Given the description of an element on the screen output the (x, y) to click on. 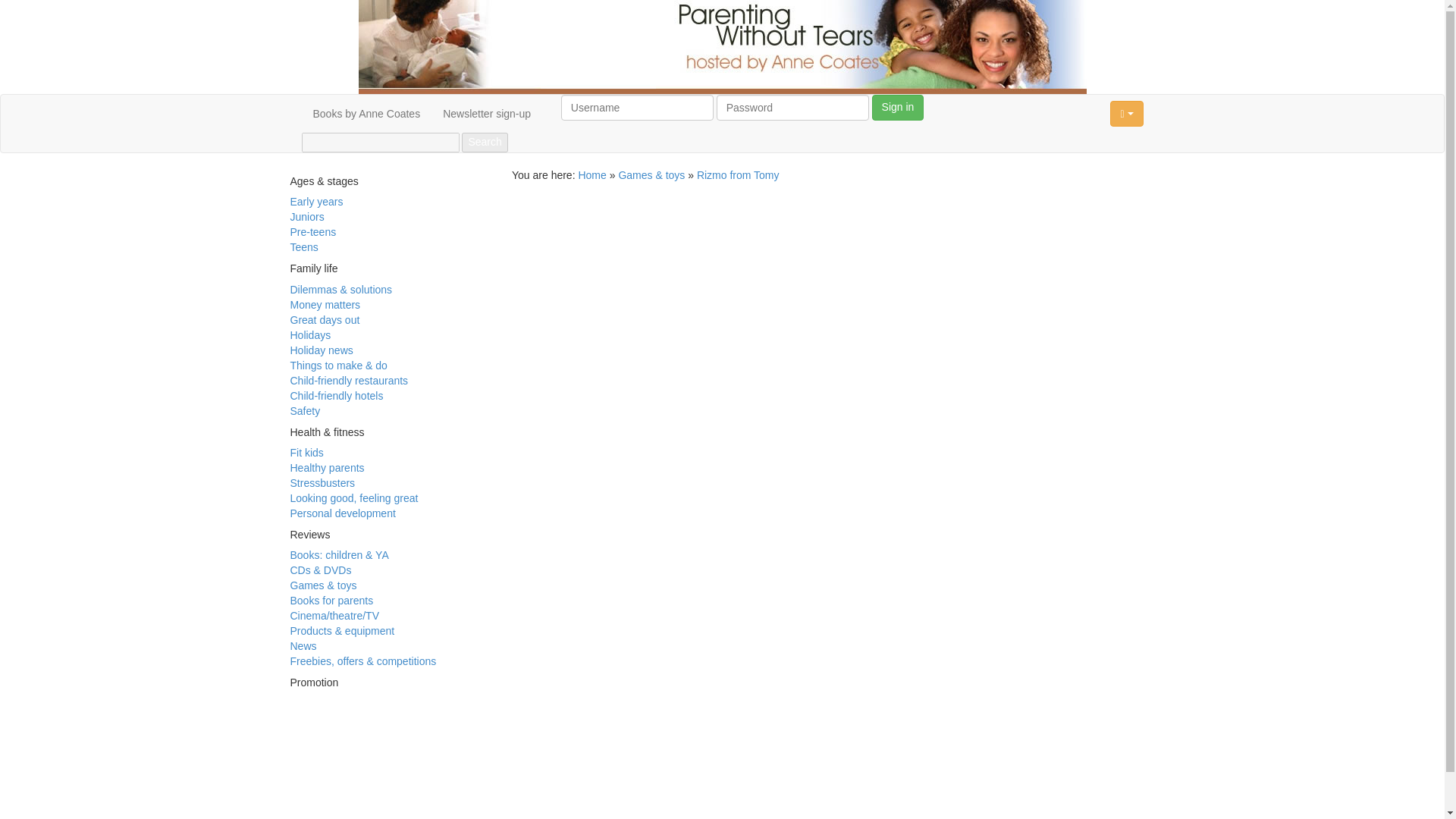
Newsletter sign-up (485, 113)
Teens (303, 246)
News (302, 645)
Holiday news (320, 349)
Great days out (324, 319)
Child-friendly hotels (335, 395)
Search (483, 142)
Early years (315, 201)
Books by Anne Coates (366, 113)
Sign in (898, 107)
Rizmo from Tomy (737, 174)
Healthy parents (326, 467)
Holidays (309, 335)
Search (483, 142)
Looking good, feeling great (353, 498)
